Given the description of an element on the screen output the (x, y) to click on. 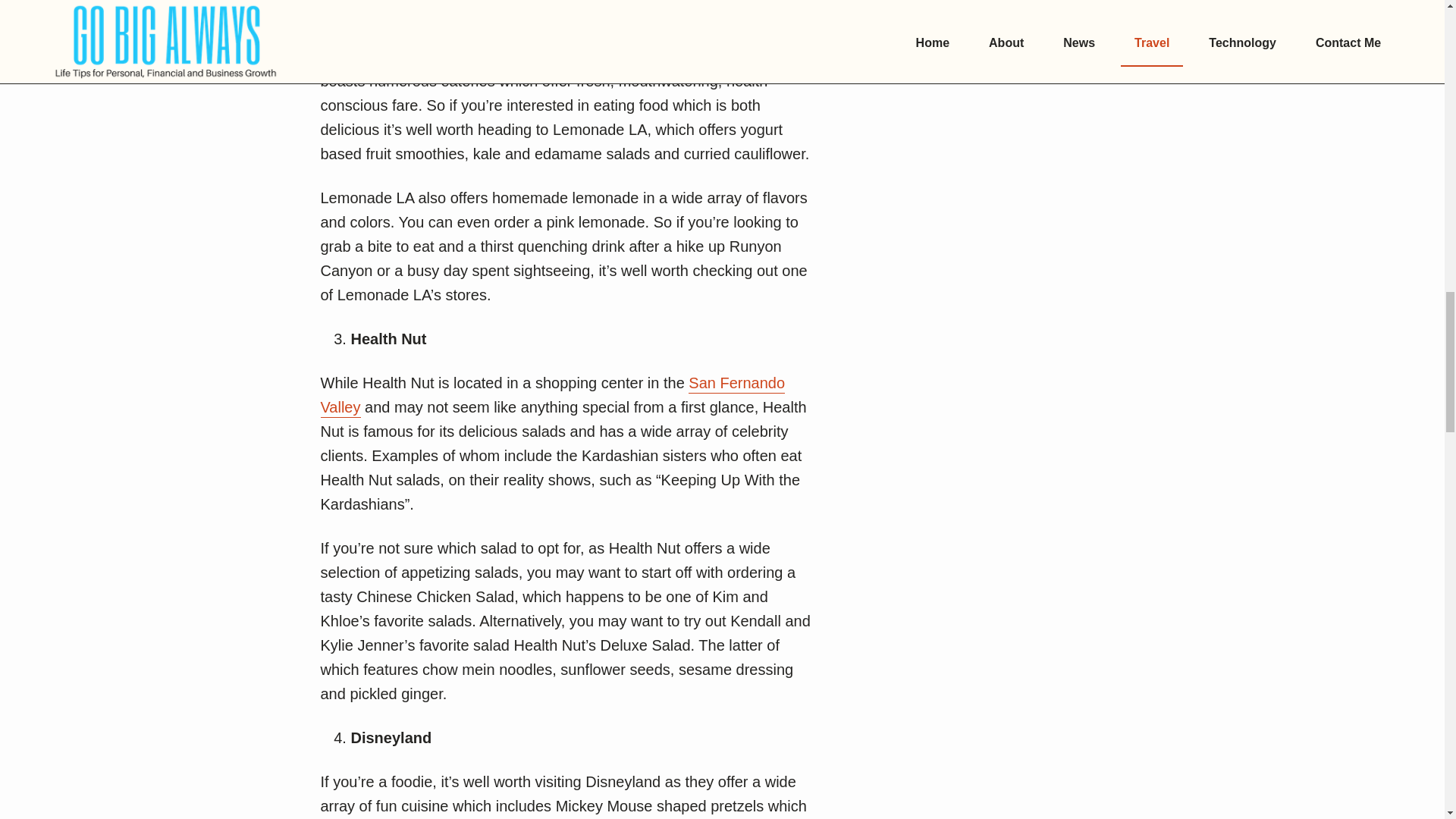
San Fernando Valley (552, 395)
